Given the description of an element on the screen output the (x, y) to click on. 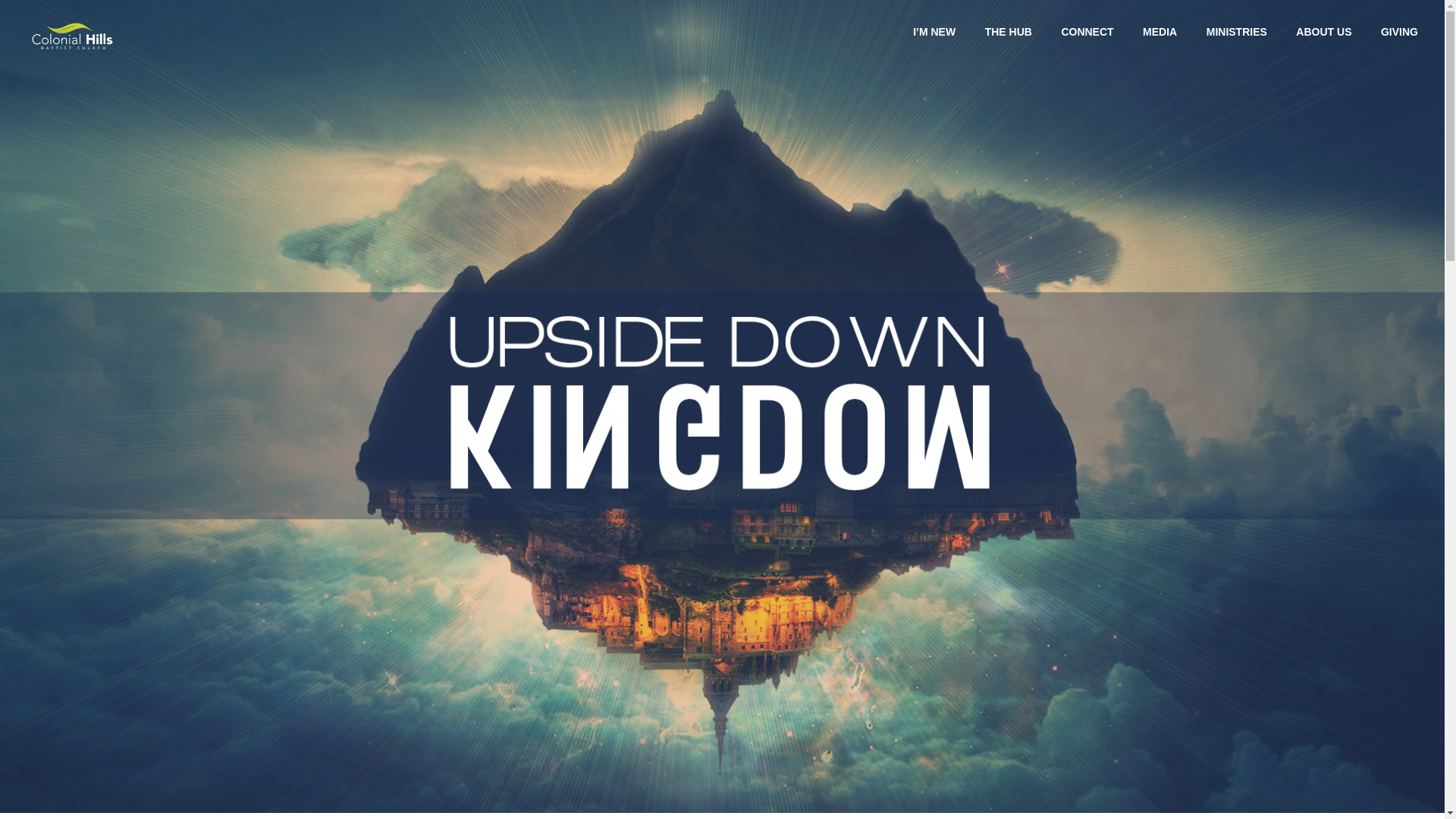
MEDIA (1159, 31)
THE HUB (1007, 31)
MINISTRIES (1236, 31)
CONNECT (1086, 31)
ABOUT US (1323, 31)
GIVING (1399, 31)
